Given the description of an element on the screen output the (x, y) to click on. 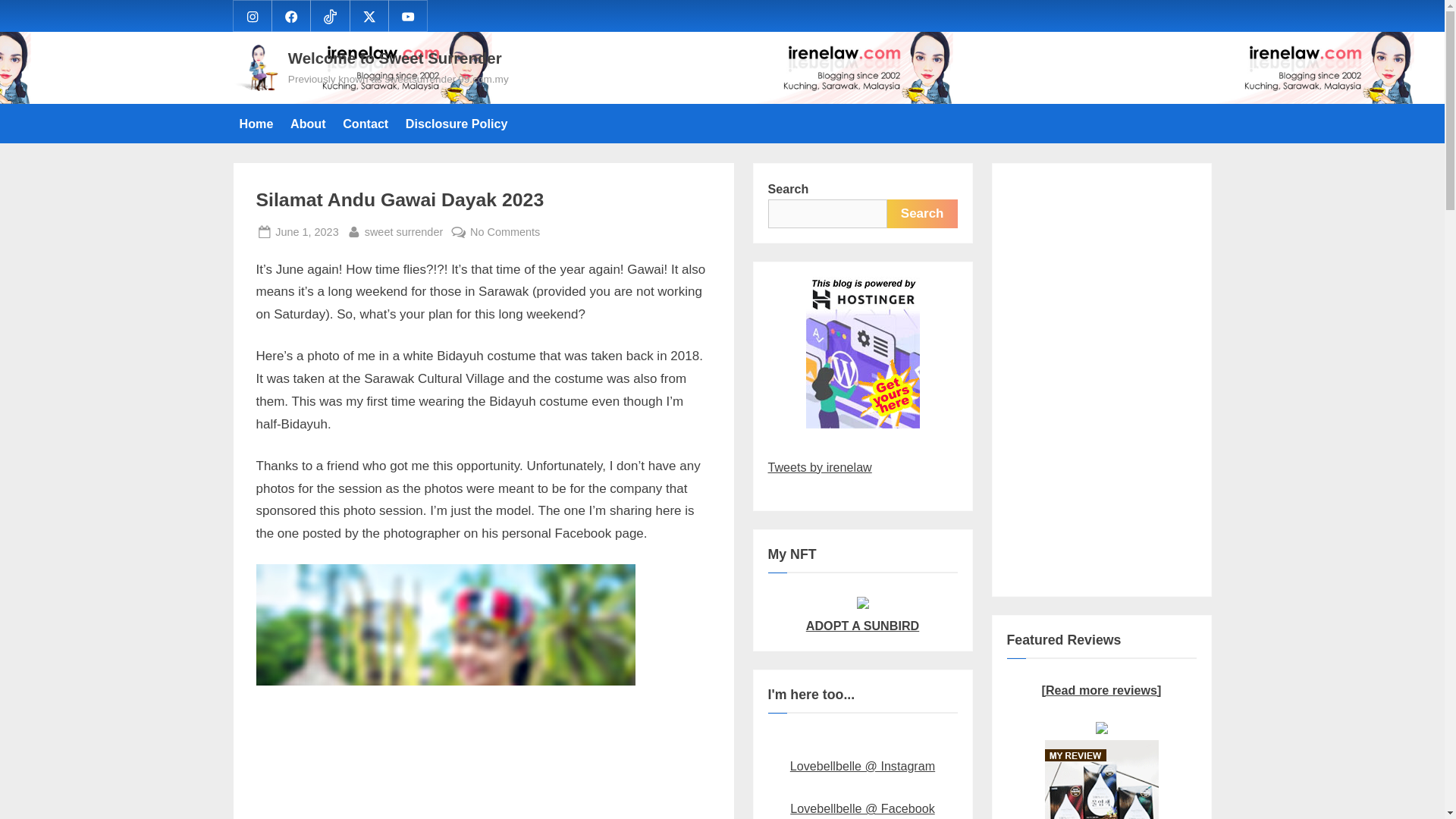
Welcome to Sweet Surrender (395, 57)
About (307, 123)
Disclosure Policy (455, 123)
Instagram (307, 231)
Youtube (404, 231)
Home (252, 15)
Contact (407, 15)
